Given the description of an element on the screen output the (x, y) to click on. 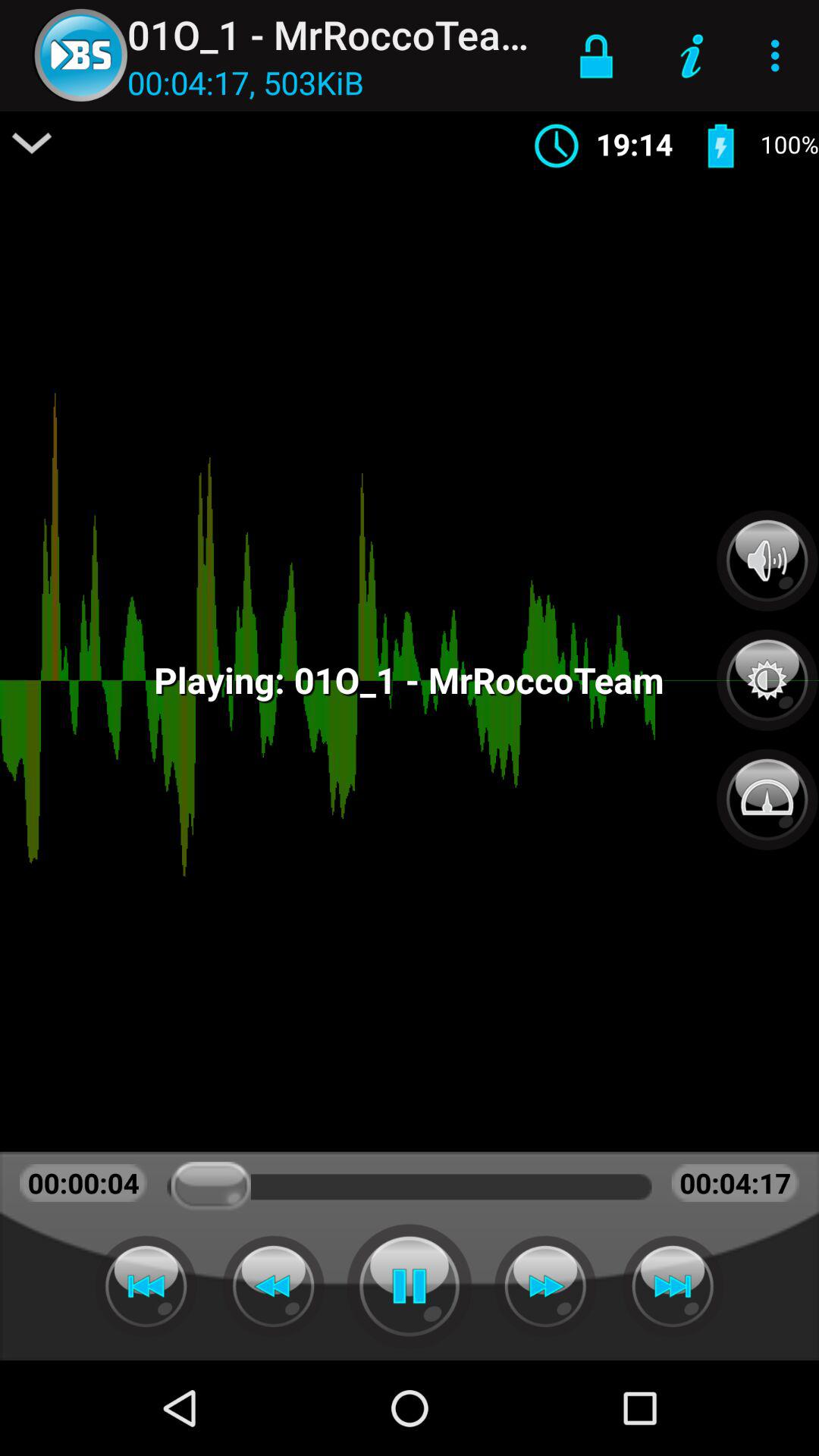
turn off icon next to 01o_1 - mrroccoteam (595, 55)
